Given the description of an element on the screen output the (x, y) to click on. 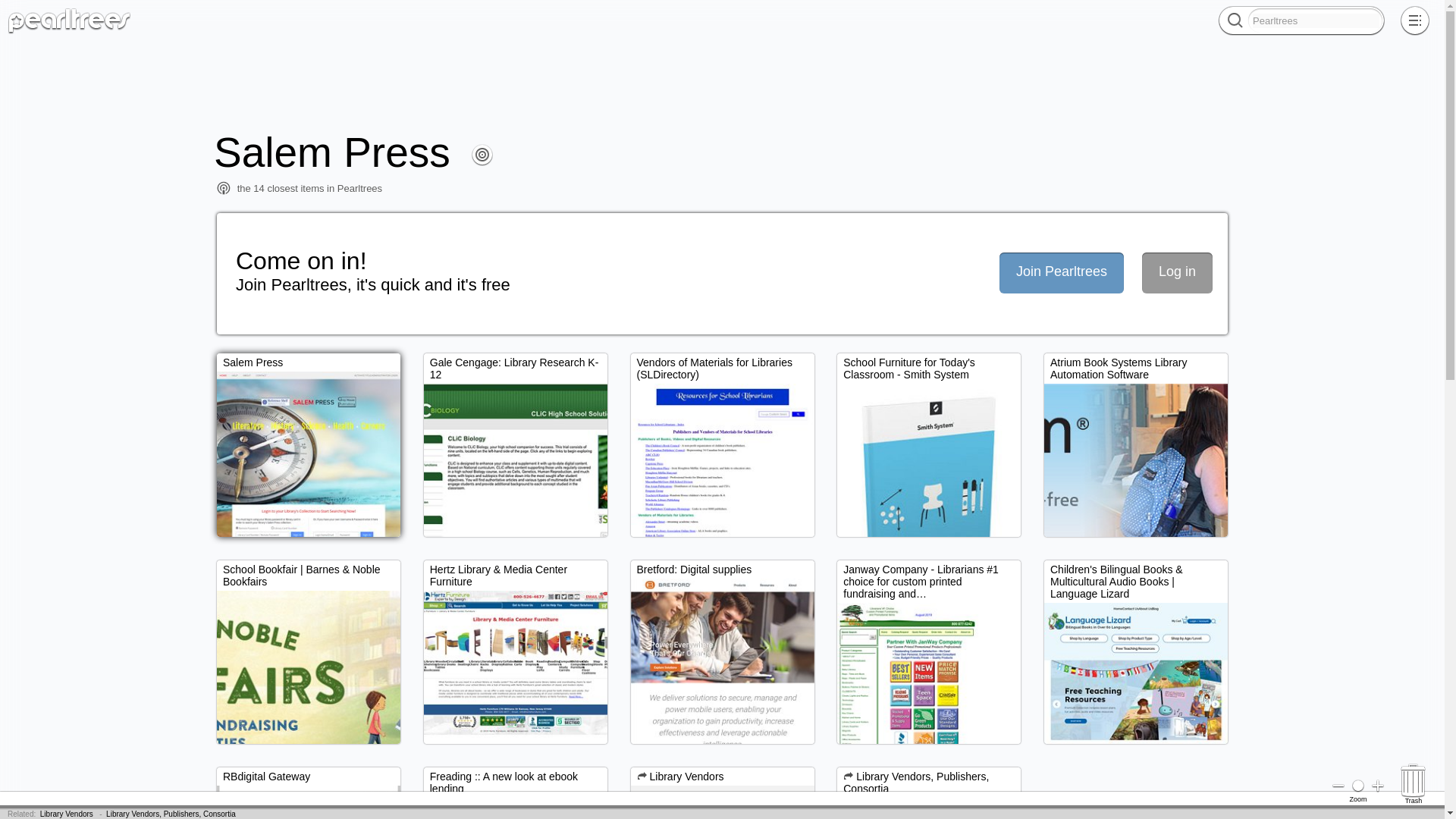
Library Vendors (66, 813)
Library Vendors, Publishers, Consortia (170, 813)
